Given the description of an element on the screen output the (x, y) to click on. 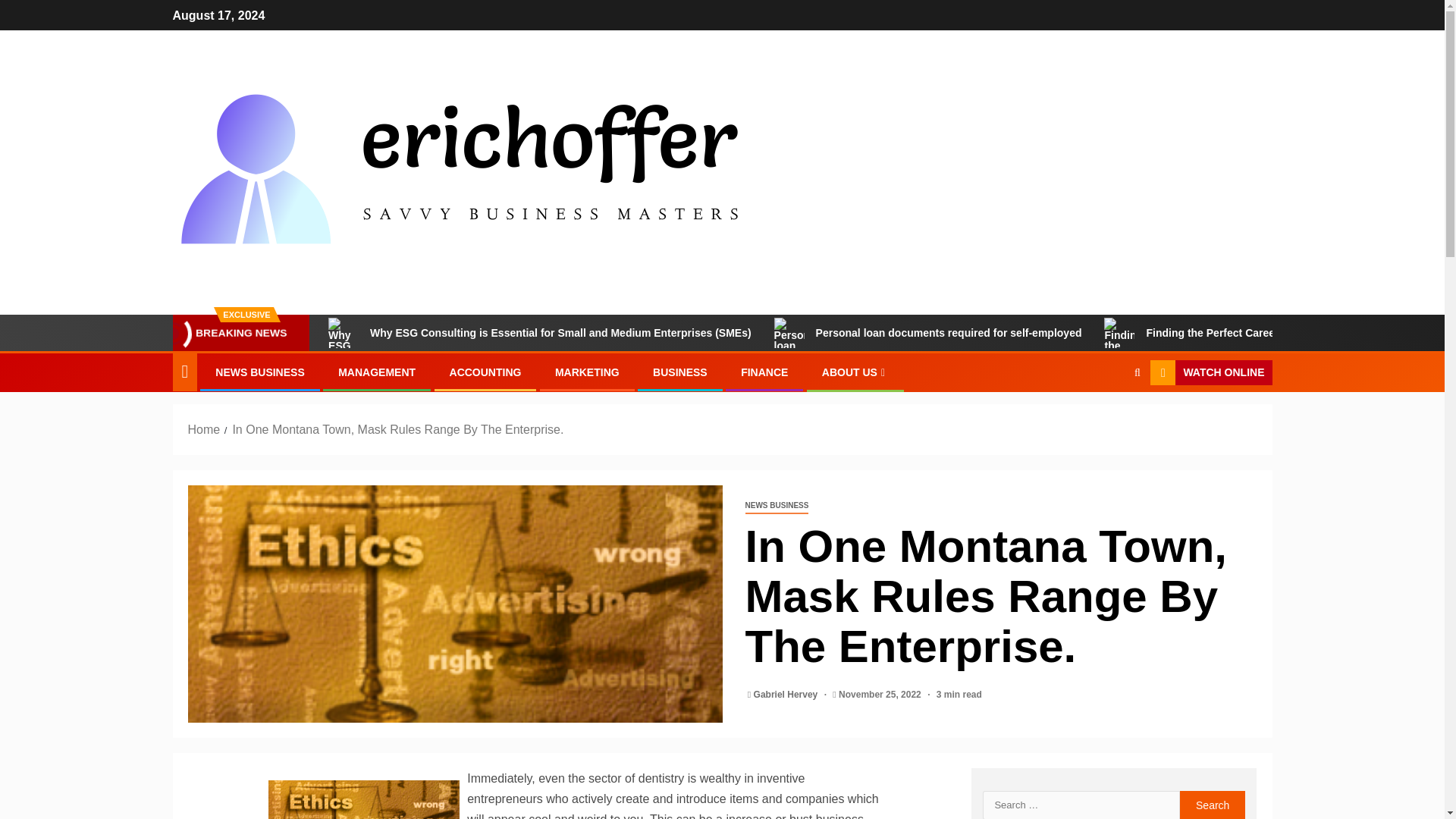
MANAGEMENT (375, 372)
FINANCE (764, 372)
Search (1212, 805)
Personal loan documents required for self-employed (927, 332)
Search (1107, 419)
In One Montana Town, Mask Rules Range By The Enterprise. (454, 603)
Home (204, 429)
BUSINESS (679, 372)
ABOUT US (855, 372)
NEWS BUSINESS (259, 372)
